Given the description of an element on the screen output the (x, y) to click on. 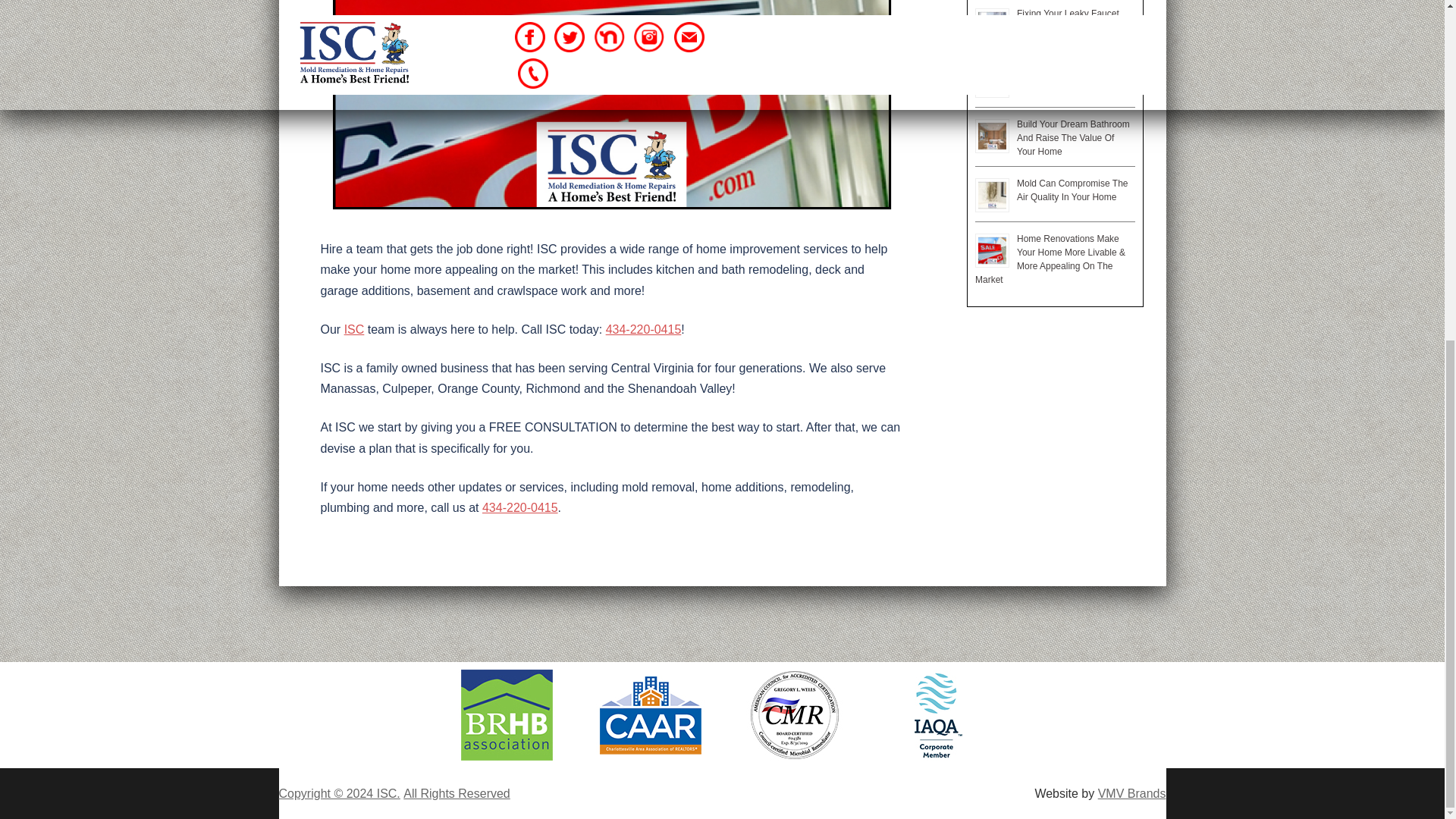
Mold Can Compromise The Air Quality In Your Home (1072, 190)
434-220-0415 (519, 507)
Build Your Dream Bathroom And Raise The Value Of Your Home (1072, 137)
ISC (354, 328)
VMV Brands (1131, 793)
All Rights Reserved (457, 793)
434-220-0415 (643, 328)
Protect Your Home And Family From Excessive Mold (1074, 75)
Fixing Your Leaky Faucet Will Save You Money (1067, 20)
